Given the description of an element on the screen output the (x, y) to click on. 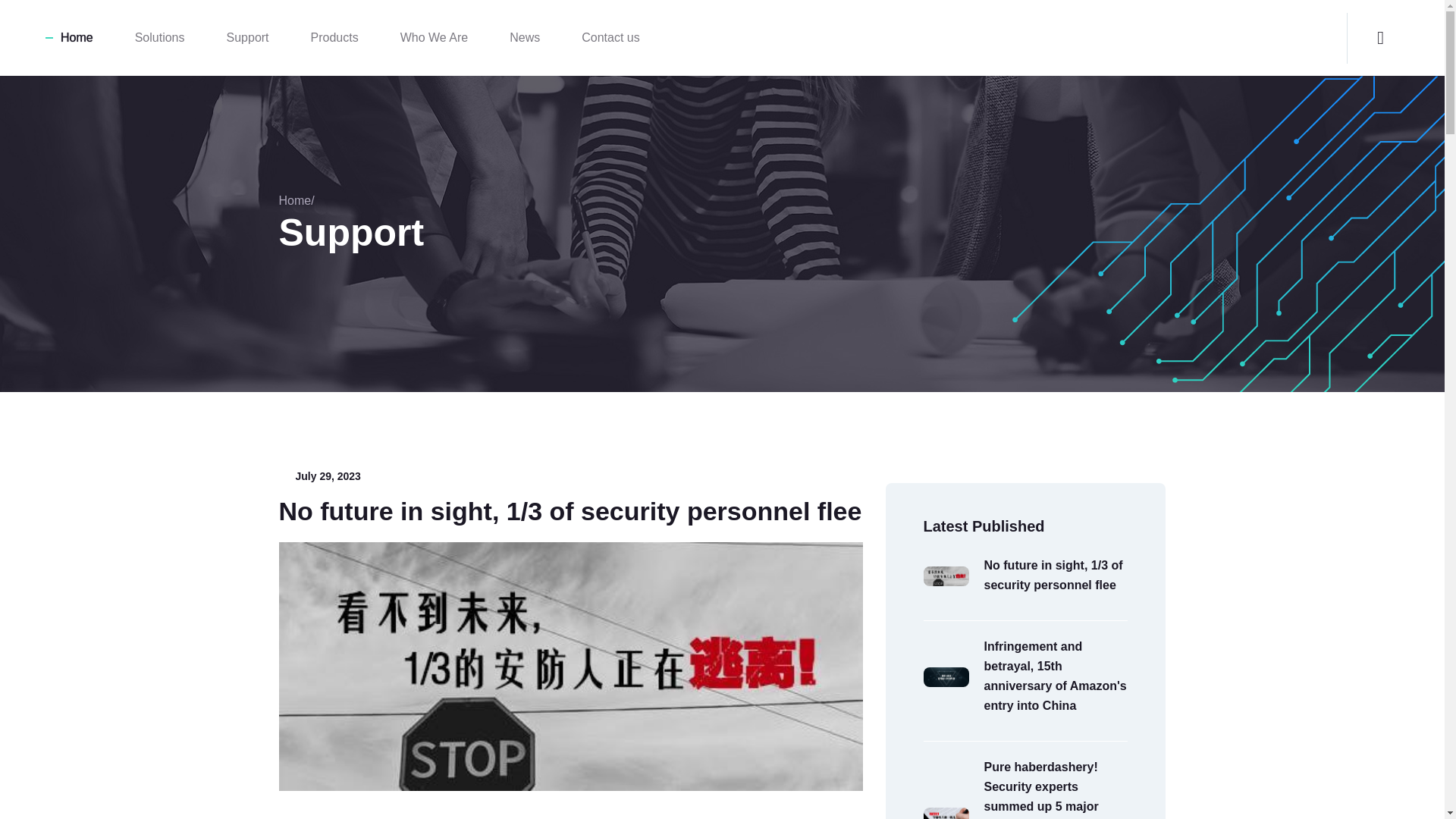
News (524, 37)
Support (248, 37)
Products (334, 37)
Home (77, 37)
Who We Are (434, 37)
Solutions (159, 37)
Contact us (609, 37)
